Given the description of an element on the screen output the (x, y) to click on. 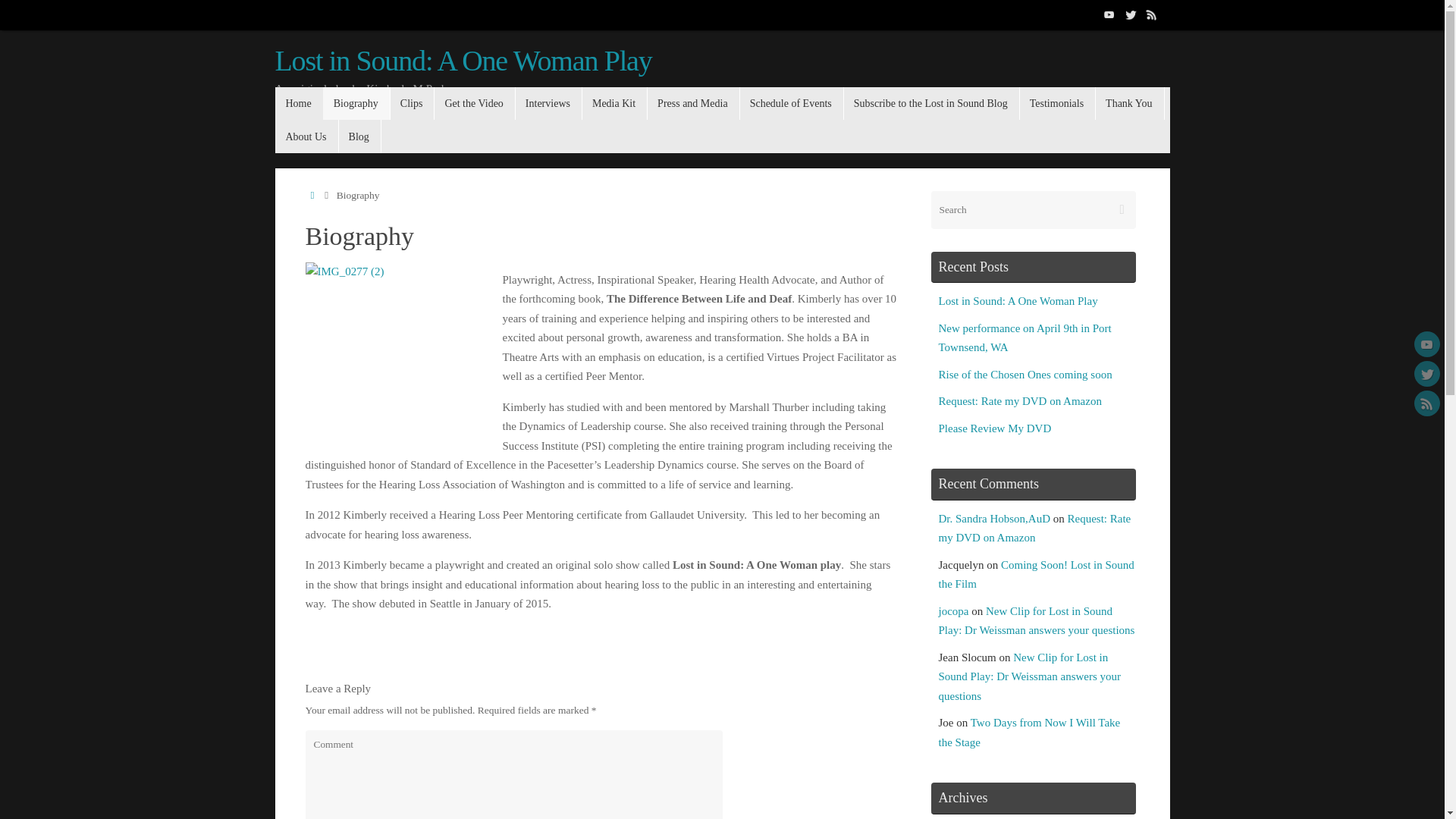
Two Days from Now I Will Take the Stage (1030, 732)
Press and Media (692, 102)
Lost in Sound: A One Woman Play (462, 60)
About Us (306, 135)
Blog (358, 135)
Request: Rate my DVD on Amazon (1035, 528)
RSS (1150, 14)
Home (311, 194)
Home (298, 102)
